Given the description of an element on the screen output the (x, y) to click on. 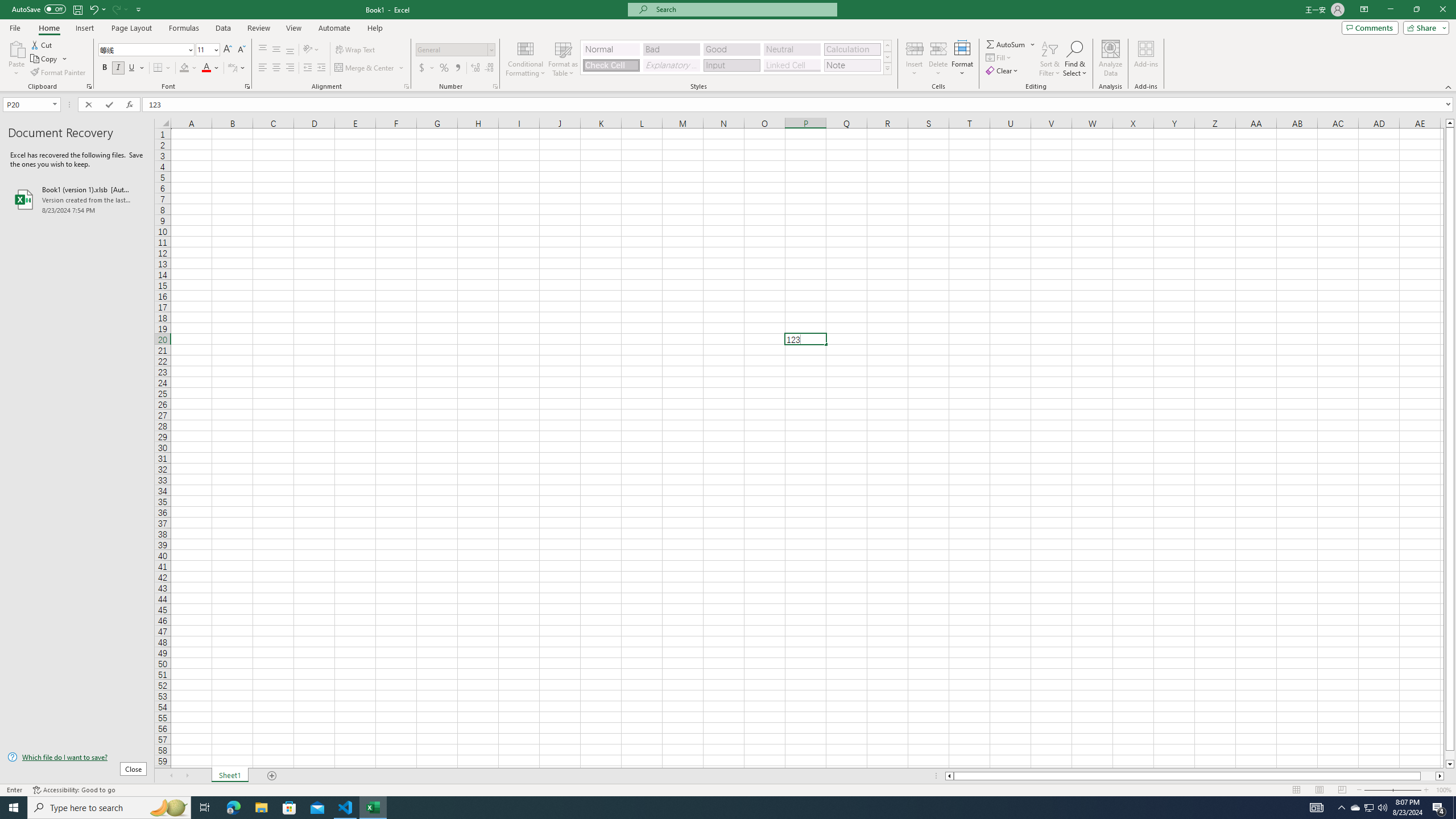
Top Align (262, 49)
Increase Decimal (474, 67)
Format Cell Font (247, 85)
Borders (162, 67)
Merge & Center (369, 67)
Insert Cells (914, 48)
Fill Color (188, 67)
Font (142, 49)
